Given the description of an element on the screen output the (x, y) to click on. 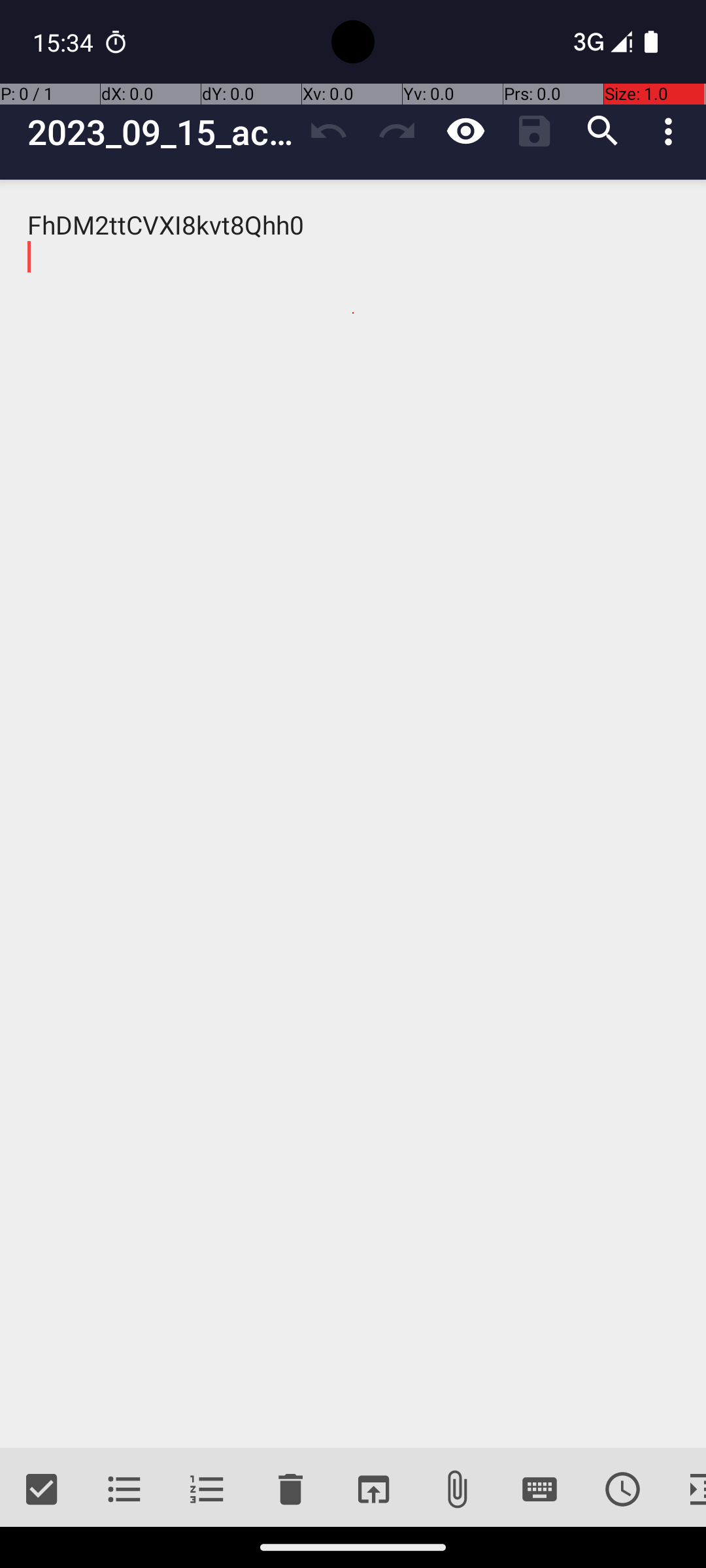
2023_09_15_active_lion Element type: android.widget.TextView (160, 131)
FhDM2ttCVXI8kvt8Qhh0
 Element type: android.widget.EditText (353, 813)
